Given the description of an element on the screen output the (x, y) to click on. 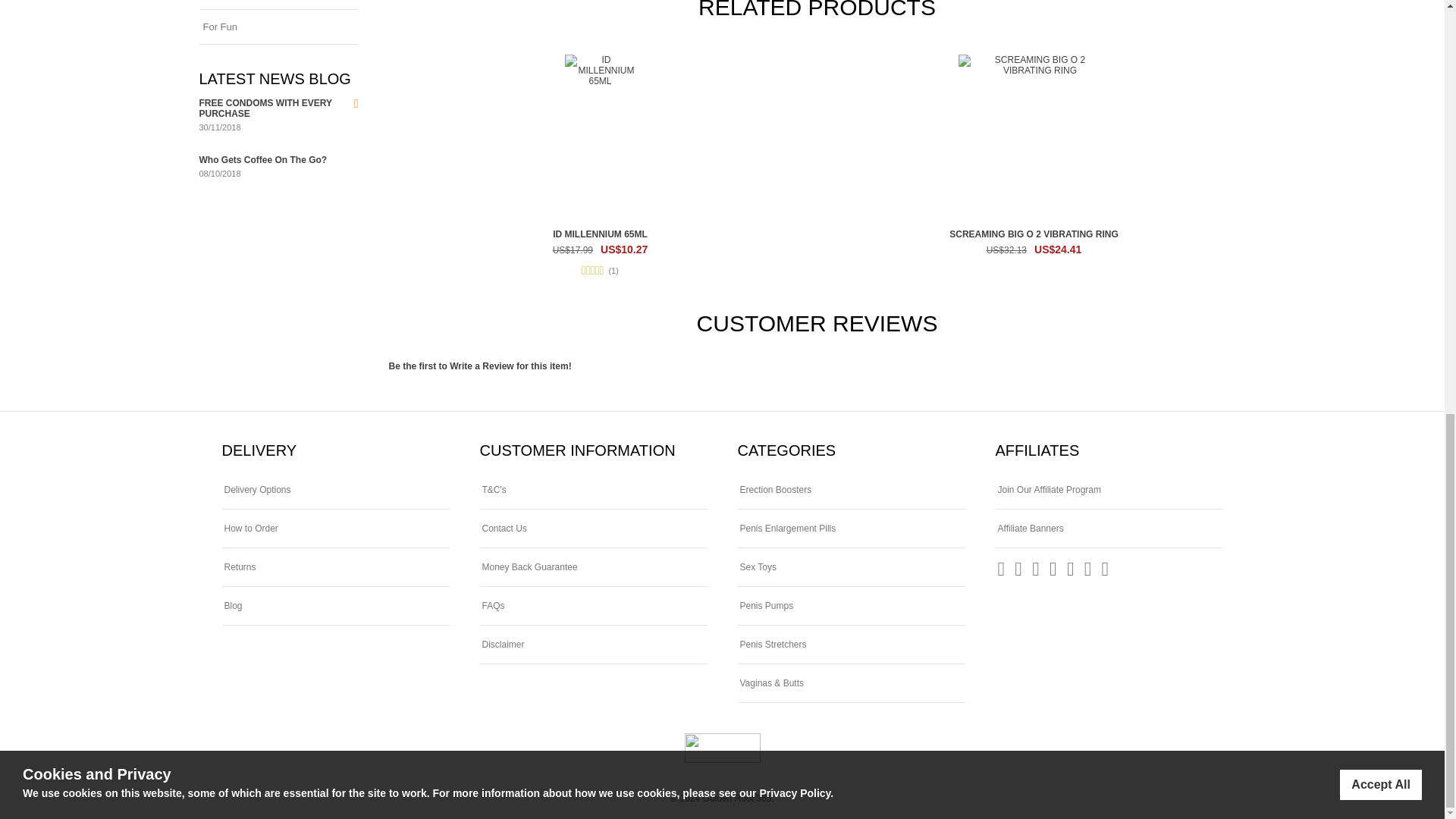
Who Gets Coffee On The Go? (262, 159)
For Fun (278, 27)
For Men (278, 4)
FREE CONDOMS WITH EVERY PURCHASE (264, 107)
